Given the description of an element on the screen output the (x, y) to click on. 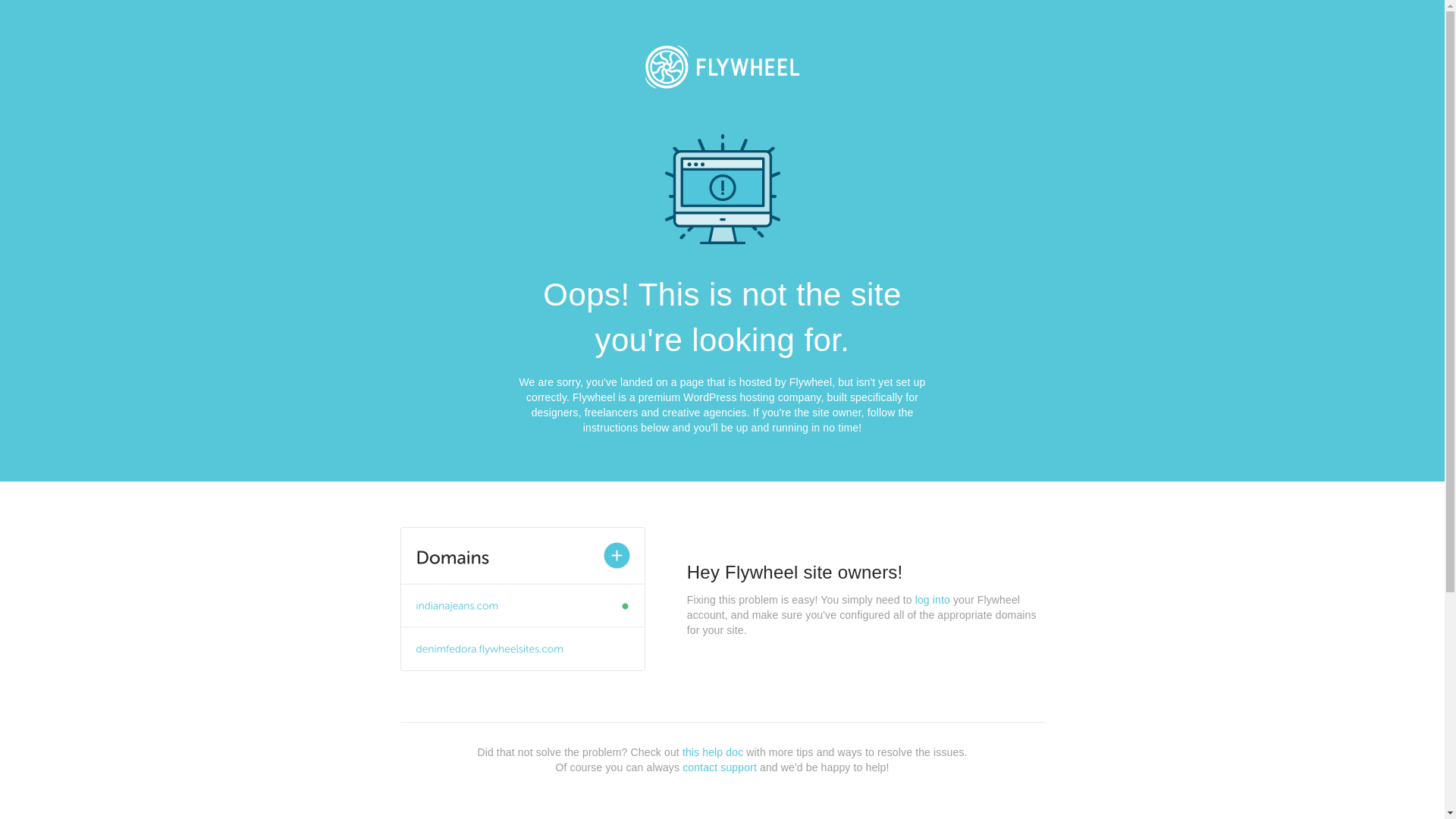
log into (932, 599)
contact support (719, 767)
this help doc (712, 752)
